Given the description of an element on the screen output the (x, y) to click on. 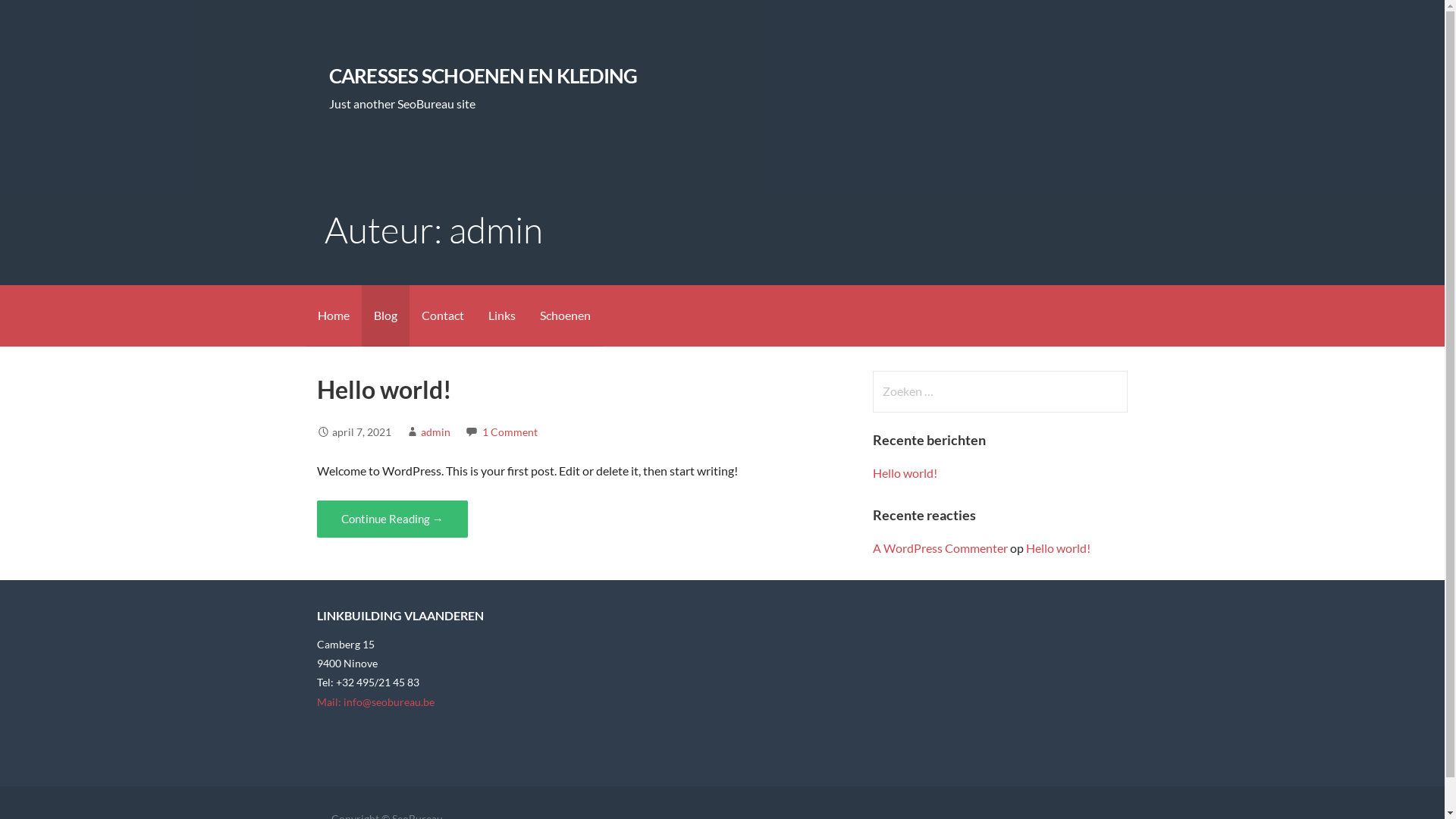
Hello world! Element type: text (1058, 547)
CARESSES SCHOENEN EN KLEDING Element type: text (483, 75)
Hello world! Element type: text (383, 389)
1 Comment Element type: text (509, 431)
Links Element type: text (501, 315)
Contact Element type: text (442, 315)
Zoeken Element type: text (42, 18)
Blog Element type: text (384, 315)
Home Element type: text (332, 315)
Mail: info@seobureau.be Element type: text (375, 701)
admin Element type: text (435, 431)
A WordPress Commenter Element type: text (939, 547)
Hello world! Element type: text (904, 472)
Schoenen Element type: text (564, 315)
